Given the description of an element on the screen output the (x, y) to click on. 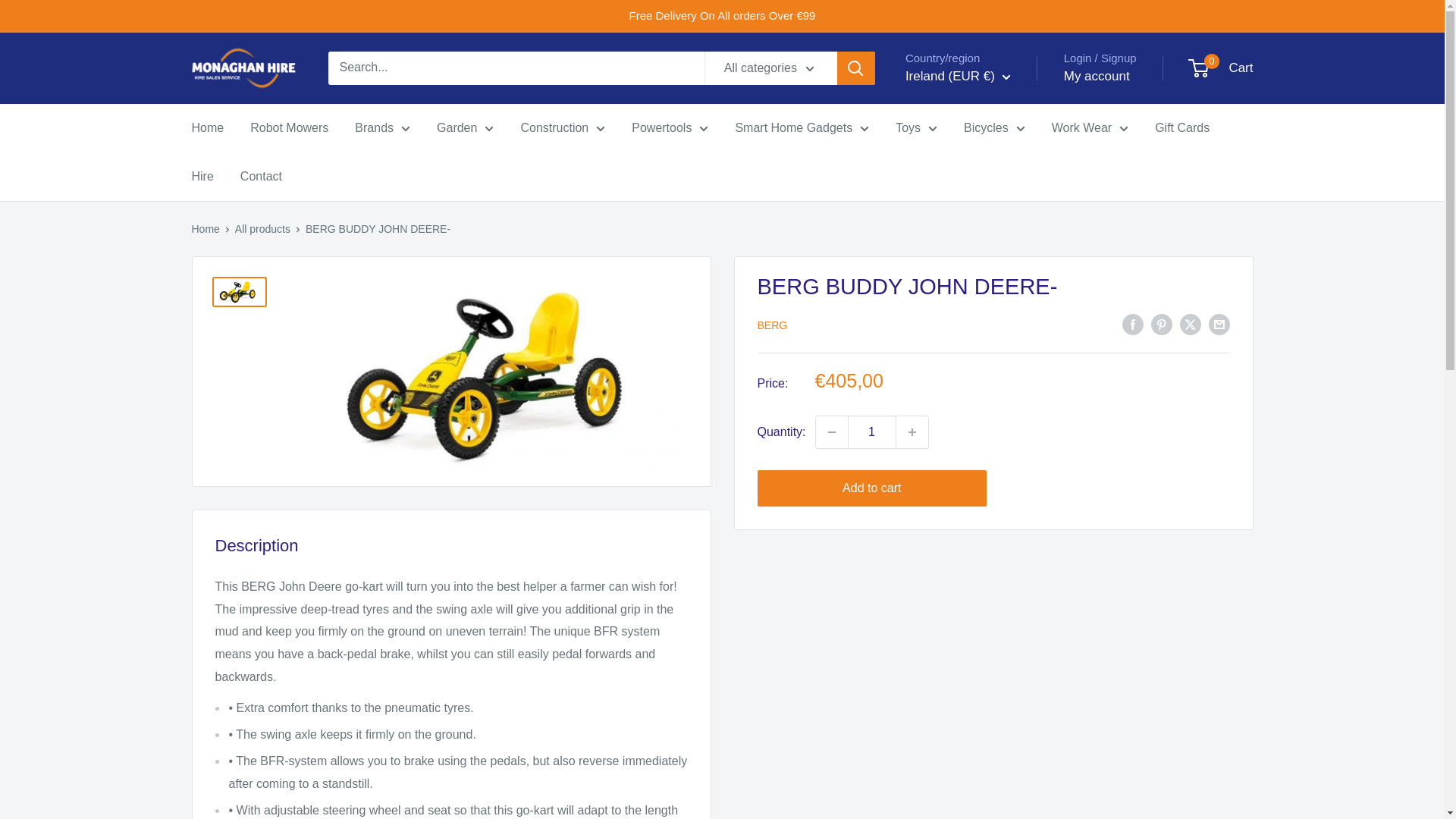
1 (871, 431)
Decrease quantity by 1 (831, 431)
Increase quantity by 1 (912, 431)
